Given the description of an element on the screen output the (x, y) to click on. 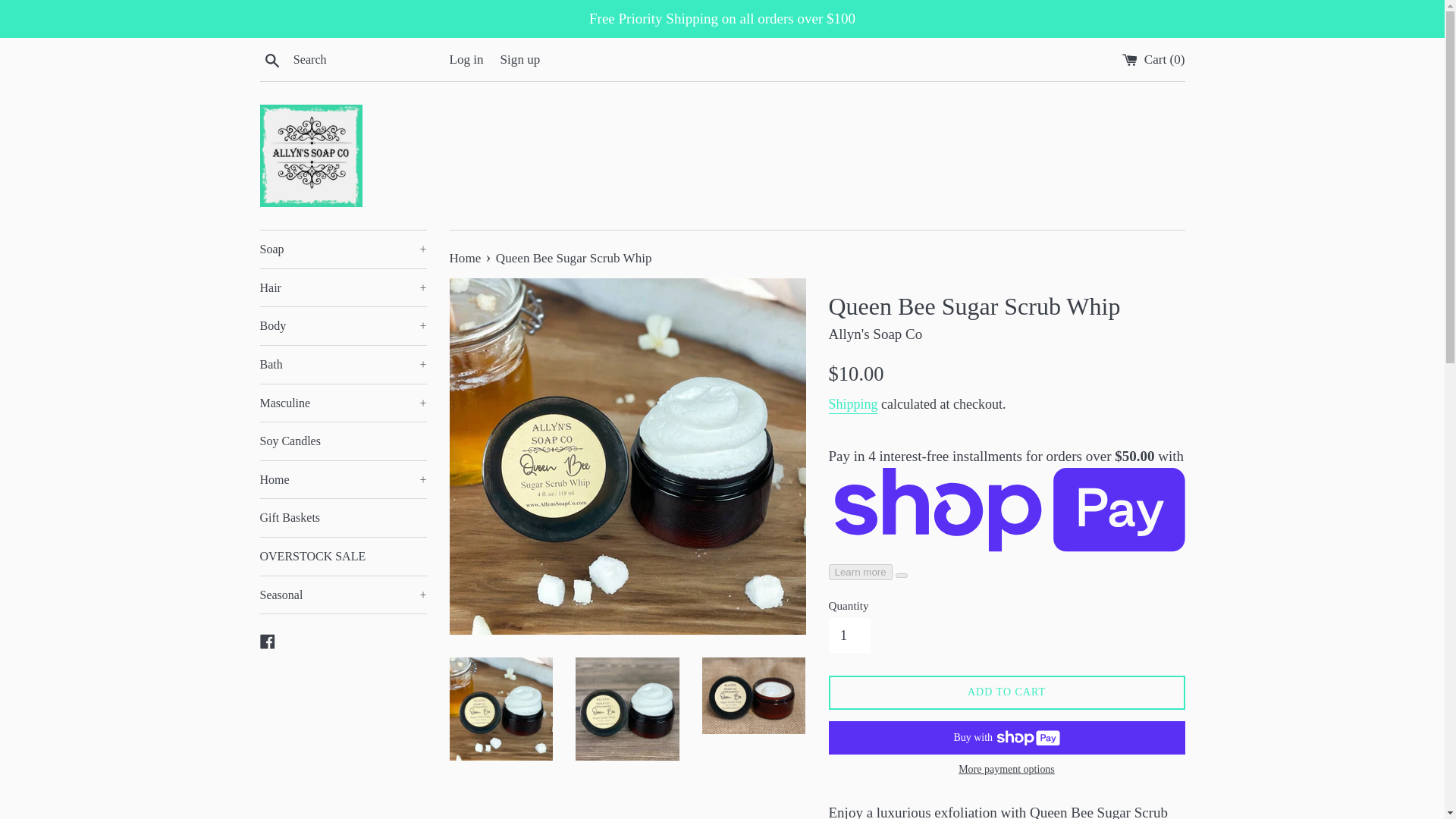
Log in (465, 59)
Allyn's Soap Co on Facebook (267, 639)
1 (848, 635)
Search (271, 58)
Back to the frontpage (465, 257)
Sign up (520, 59)
Gift Baskets (342, 517)
OVERSTOCK SALE (342, 556)
Soy Candles (342, 441)
